Given the description of an element on the screen output the (x, y) to click on. 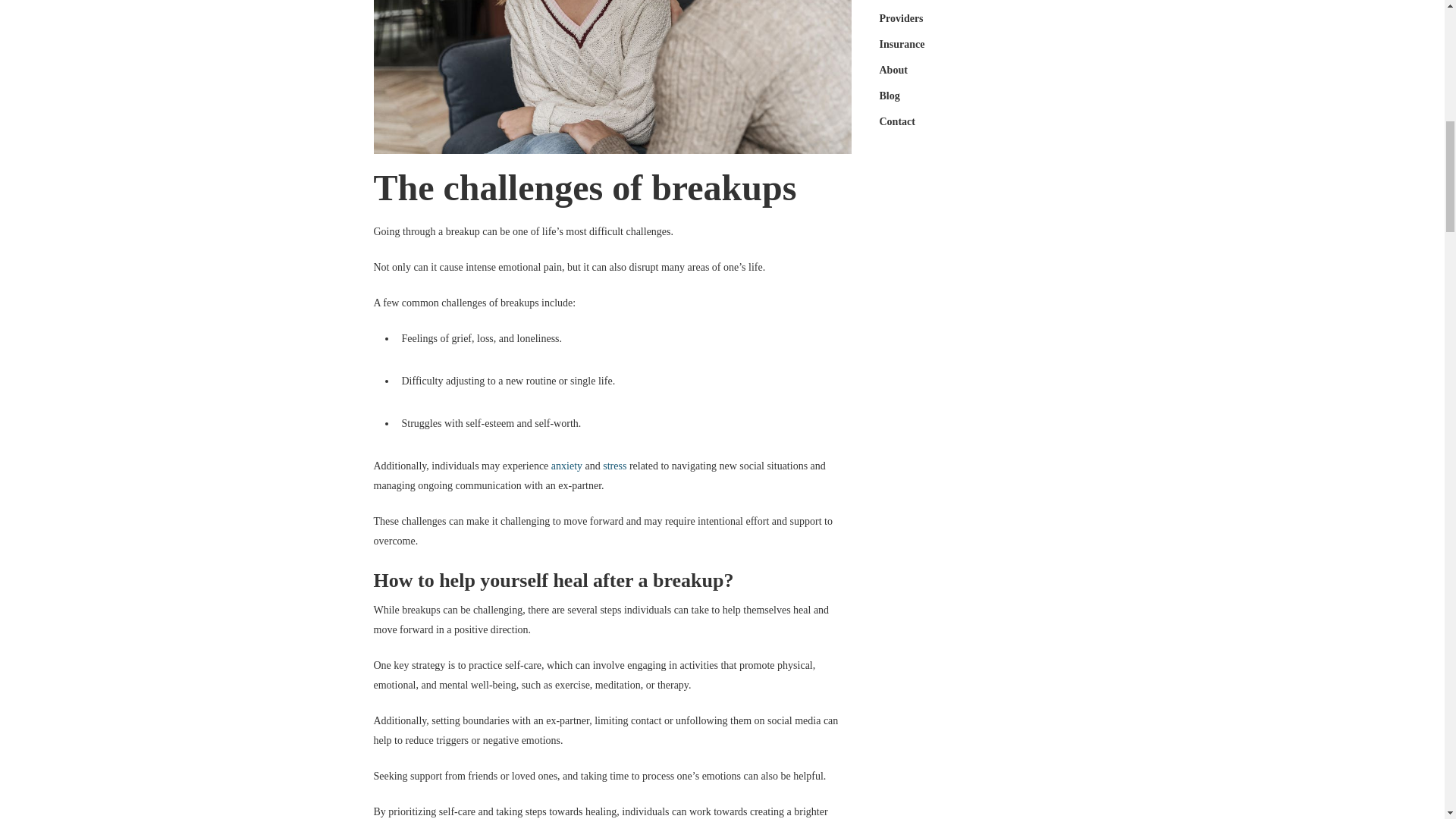
stress (614, 465)
anxiety (566, 465)
